Given the description of an element on the screen output the (x, y) to click on. 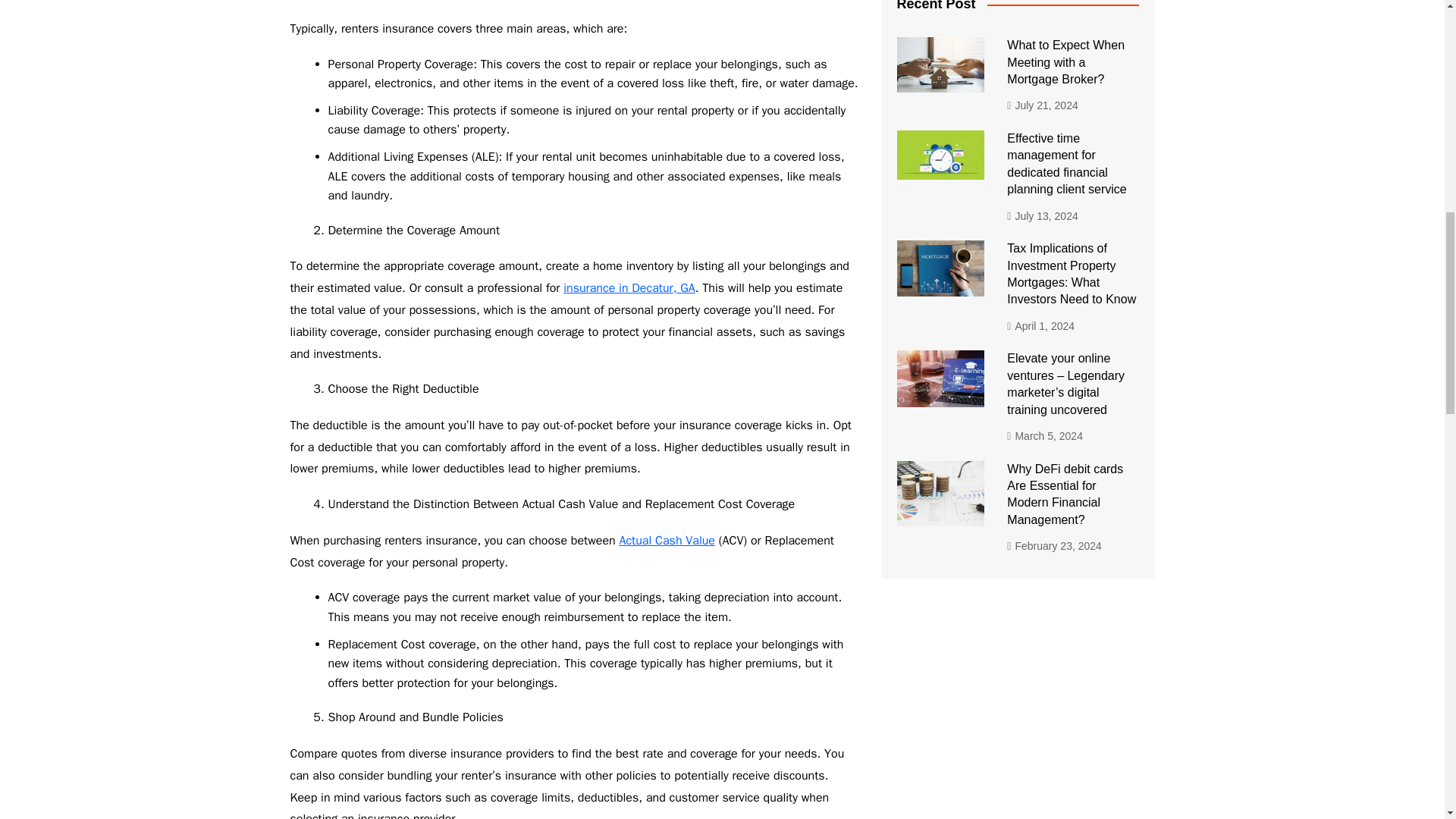
insurance in Decatur, GA (629, 287)
Actual Cash Value (666, 540)
